Given the description of an element on the screen output the (x, y) to click on. 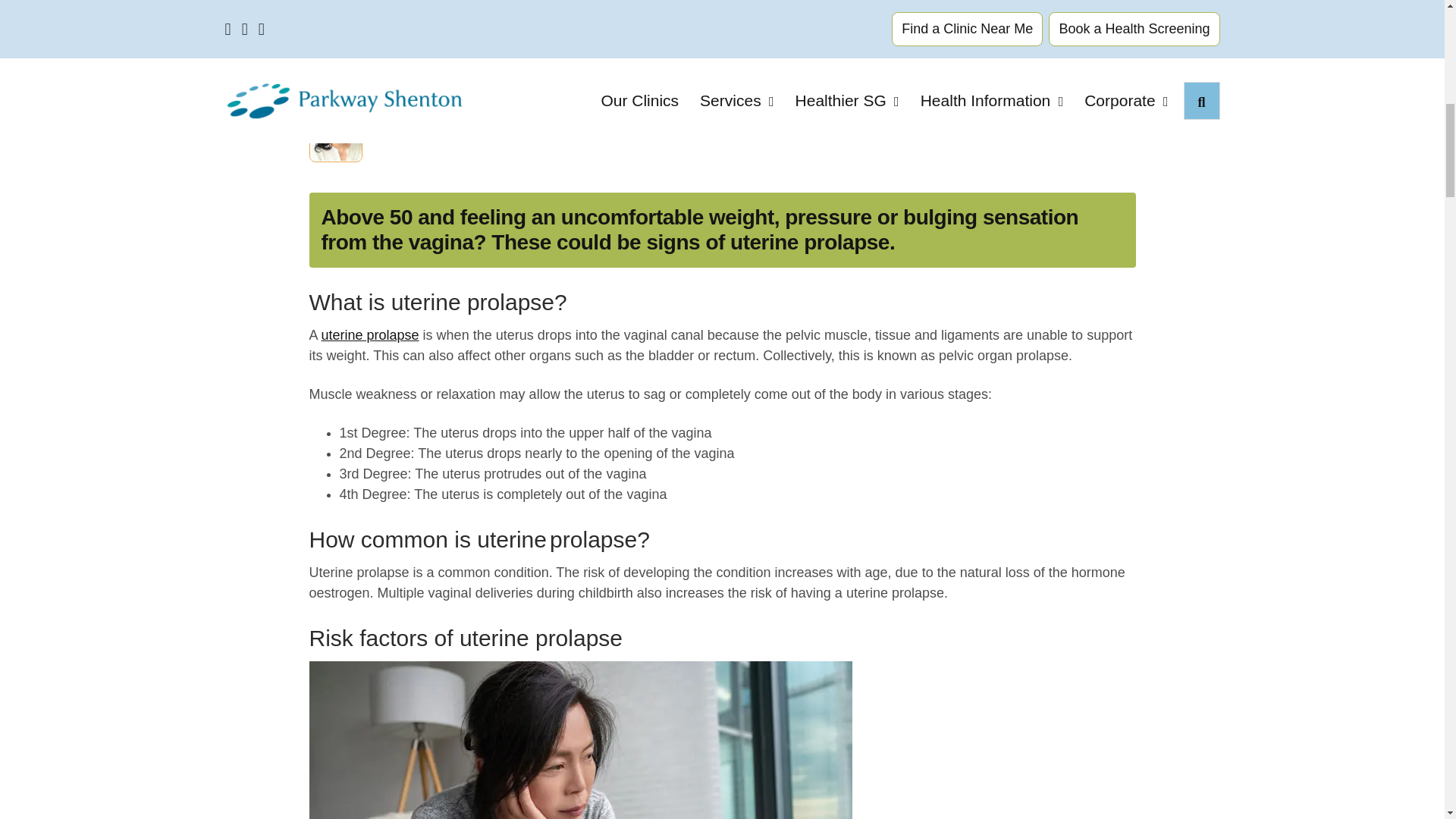
Uterine prolapse risks (579, 739)
Pelvic organ prolapse (370, 335)
